Given the description of an element on the screen output the (x, y) to click on. 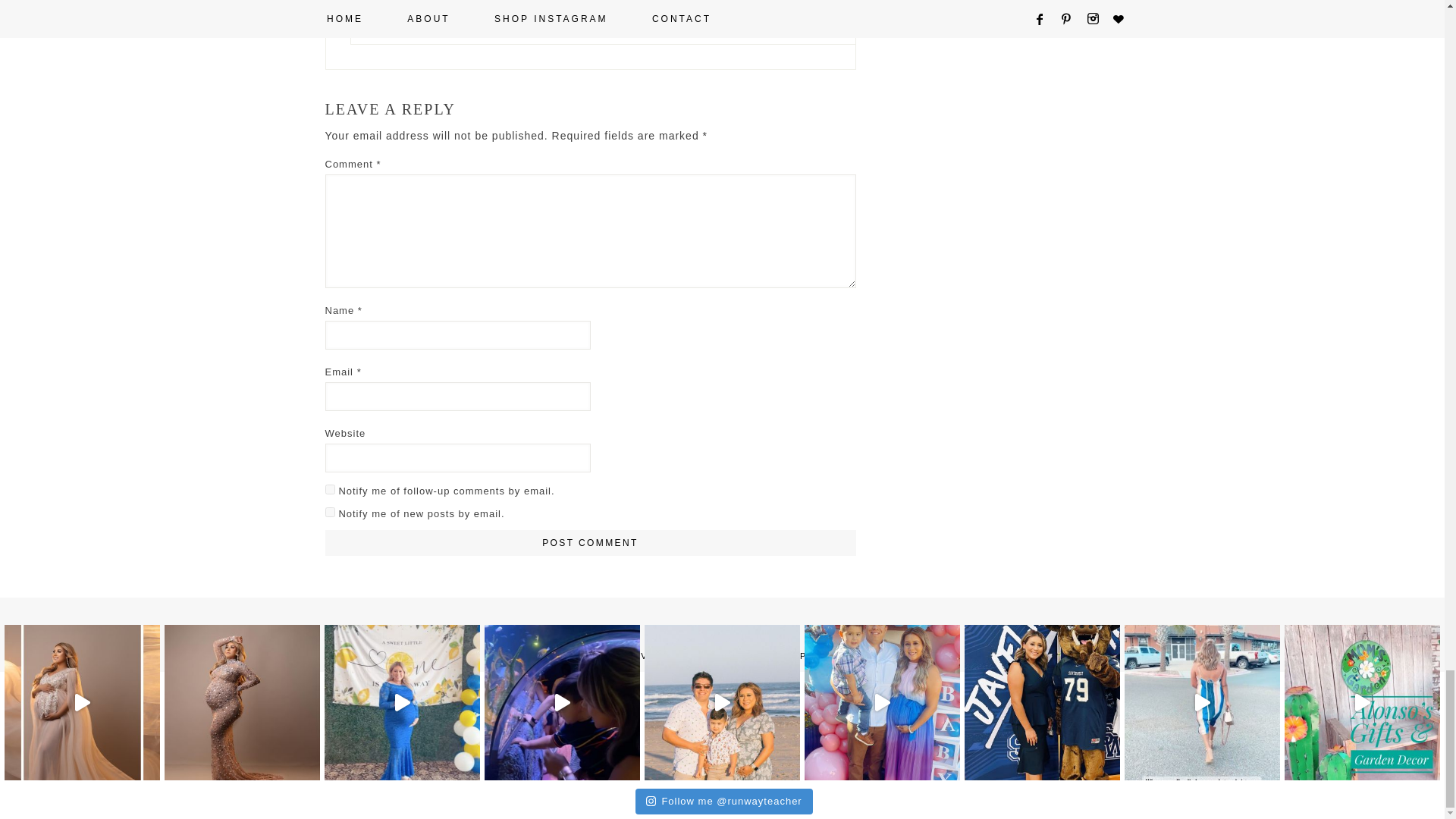
subscribe (329, 489)
Post Comment (590, 542)
subscribe (329, 511)
